Given the description of an element on the screen output the (x, y) to click on. 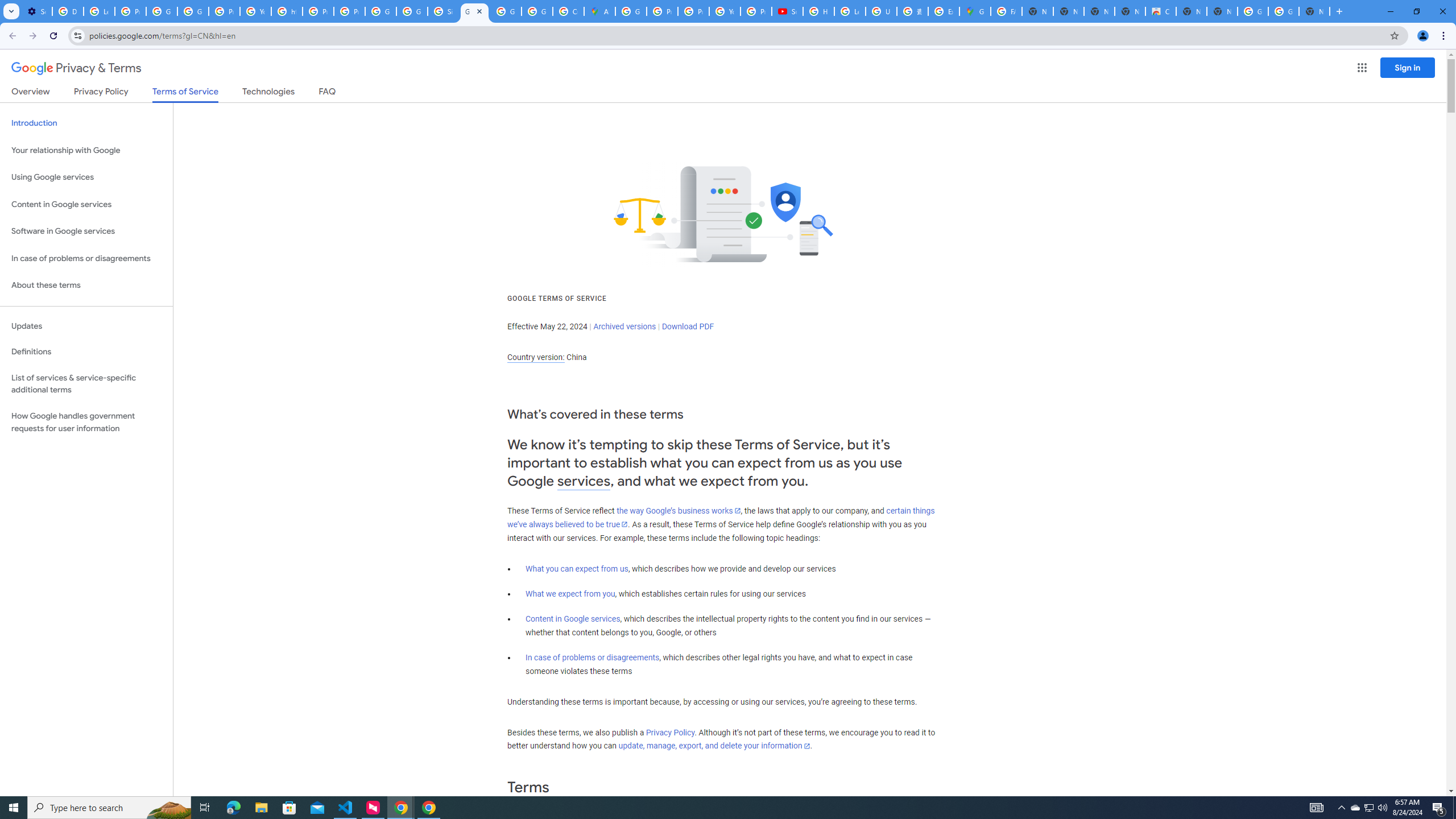
List of services & service-specific additional terms (86, 383)
Delete photos & videos - Computer - Google Photos Help (67, 11)
Software in Google services (86, 230)
